Given the description of an element on the screen output the (x, y) to click on. 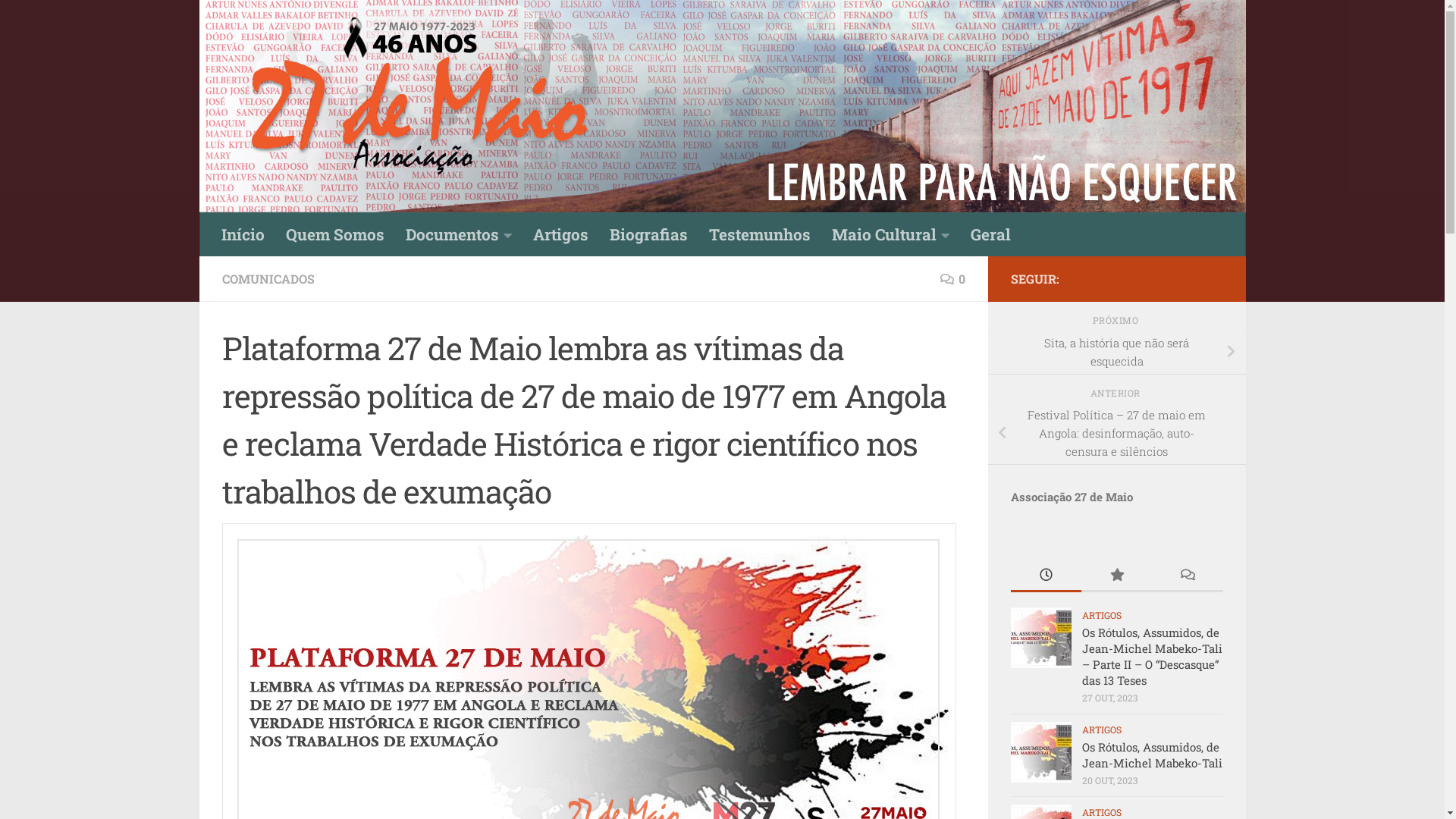
Testemunhos Element type: text (758, 234)
ARTIGOS Element type: text (1100, 812)
Geral Element type: text (990, 234)
Skip to content Element type: text (64, 21)
Documentos Element type: text (457, 234)
Quem Somos Element type: text (334, 234)
Recent Posts Element type: hover (1045, 575)
Maio Cultural Element type: text (889, 234)
ARTIGOS Element type: text (1100, 614)
ARTIGOS Element type: text (1100, 729)
Artigos Element type: text (559, 234)
0 Element type: text (952, 278)
Popular Posts Element type: hover (1116, 575)
Biografias Element type: text (648, 234)
COMUNICADOS Element type: text (267, 278)
